Given the description of an element on the screen output the (x, y) to click on. 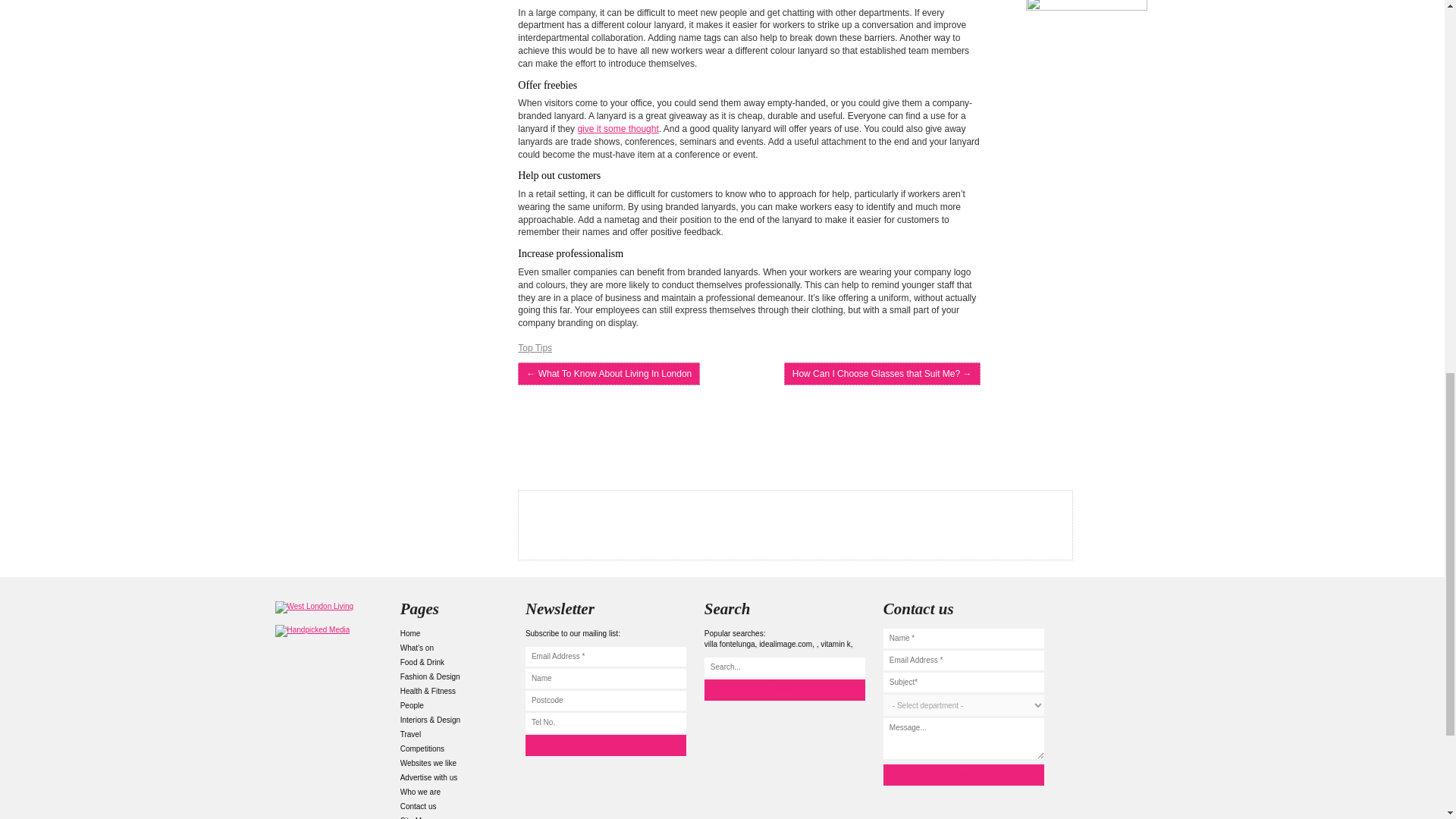
Subscribe (605, 744)
Postcode (605, 700)
Search (784, 690)
Name (605, 678)
Send (963, 774)
Tel No. (605, 722)
